Given the description of an element on the screen output the (x, y) to click on. 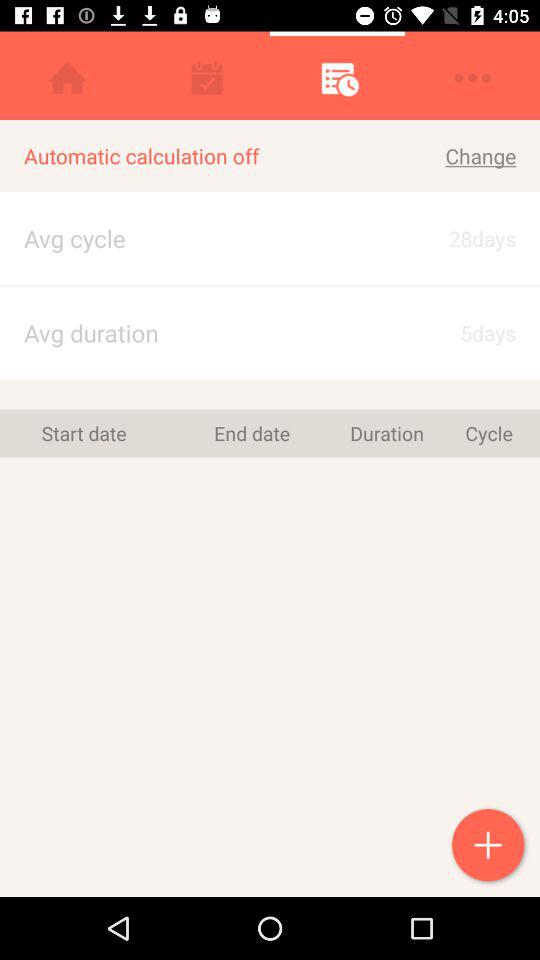
open the icon at the bottom right corner (490, 847)
